Given the description of an element on the screen output the (x, y) to click on. 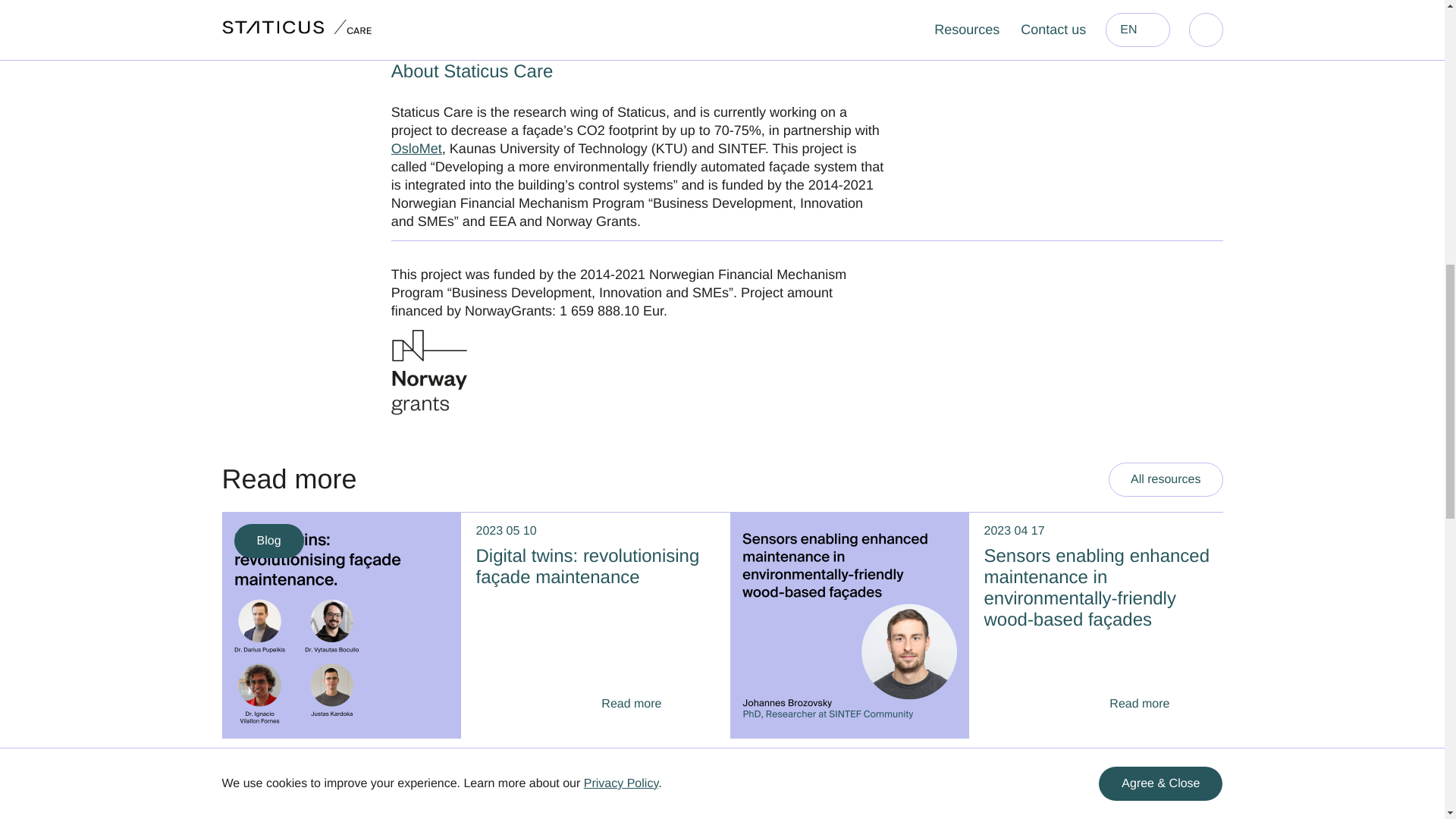
Read more (1159, 704)
Read more (651, 704)
Blog (267, 540)
All resources (1165, 479)
OsloMet (416, 148)
